Given the description of an element on the screen output the (x, y) to click on. 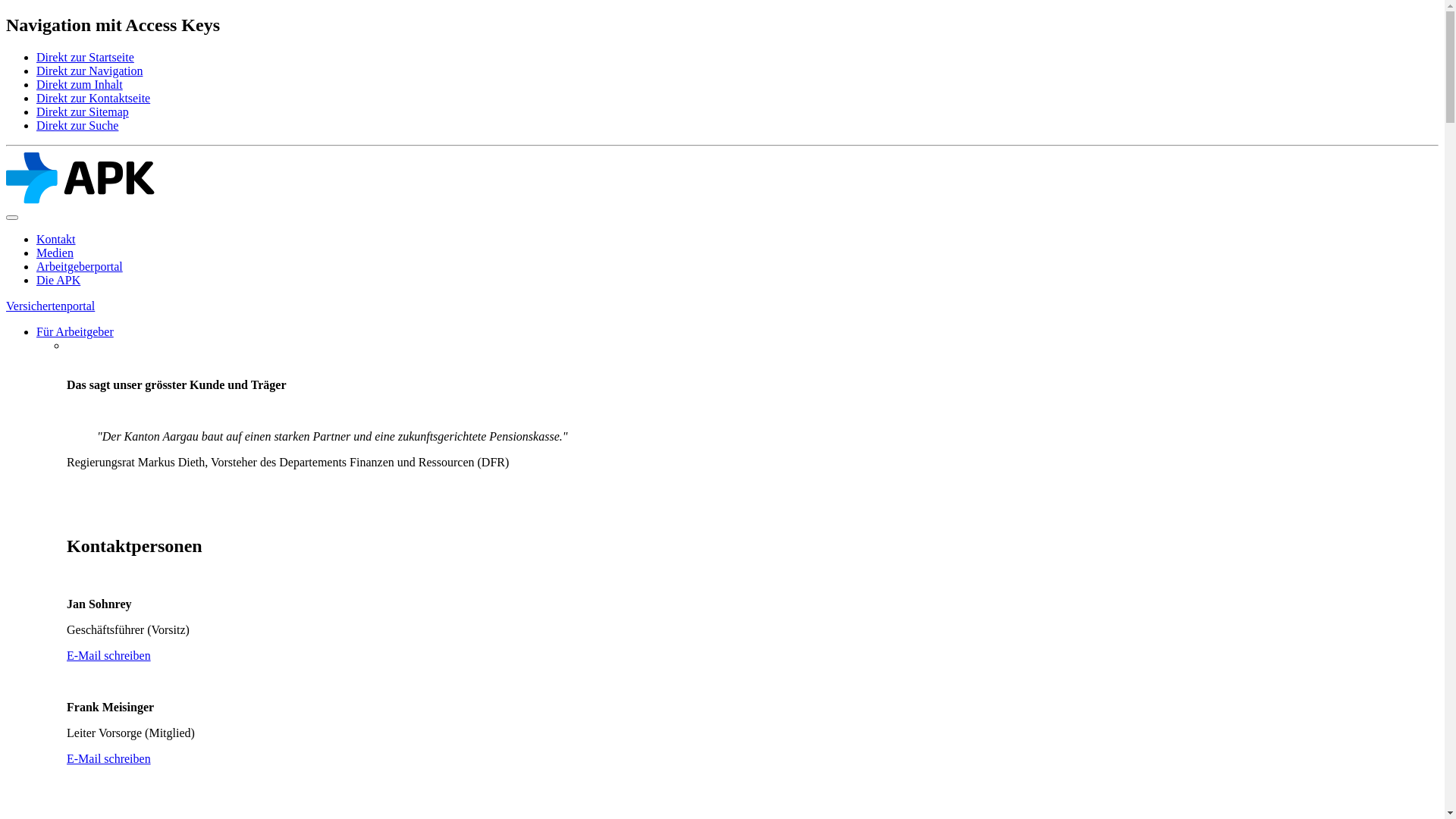
Medien Element type: text (54, 252)
  Element type: text (67, 358)
Arbeitgeberportal Element type: text (79, 266)
Zur Startseite Element type: hover (80, 199)
Direkt zum Inhalt Element type: text (79, 84)
  Element type: text (67, 344)
Direkt zur Suche Element type: text (77, 125)
  Element type: text (67, 513)
E-Mail schreiben Element type: text (108, 758)
Direkt zur Startseite Element type: text (85, 56)
E-Mail schreiben Element type: text (108, 655)
Versichertenportal Element type: text (50, 305)
Kontakt Element type: text (55, 238)
Direkt zur Kontaktseite Element type: text (93, 97)
Direkt zur Sitemap Element type: text (82, 111)
  Element type: text (67, 809)
Direkt zur Navigation Element type: text (89, 70)
Die APK Element type: text (58, 279)
